Given the description of an element on the screen output the (x, y) to click on. 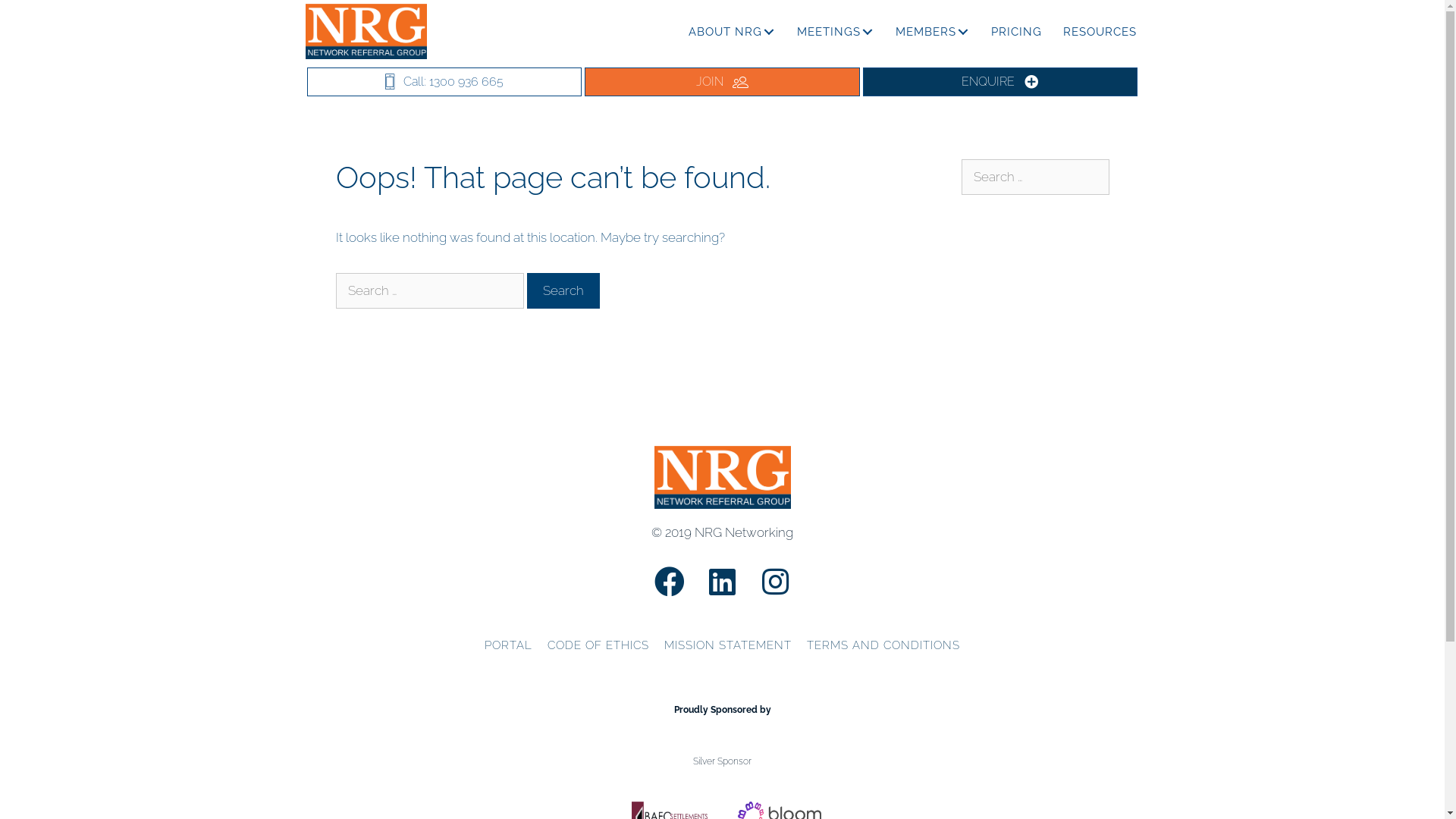
Instagram Element type: hover (775, 582)
PRICING Element type: text (1015, 32)
MEETINGS Element type: text (834, 32)
RESOURCES Element type: text (1099, 32)
Facebook Element type: hover (669, 582)
NRG Logo 400x183 Element type: hover (721, 476)
TERMS AND CONDITIONS Element type: text (883, 646)
Search for: Element type: hover (1035, 177)
ABOUT NRG Element type: text (731, 32)
Search for: Element type: hover (429, 291)
Search Element type: text (562, 291)
CODE OF ETHICS Element type: text (597, 646)
LinkedIn Element type: hover (722, 582)
Call: 1300 936 665 Element type: text (443, 82)
NRG Logo 400x183 Element type: hover (365, 31)
MISSION STATEMENT Element type: text (727, 646)
MEMBERS Element type: text (931, 32)
JOIN Element type: text (721, 82)
PORTAL Element type: text (507, 646)
ENQUIRE Element type: text (1000, 82)
Search Element type: text (36, 18)
